Given the description of an element on the screen output the (x, y) to click on. 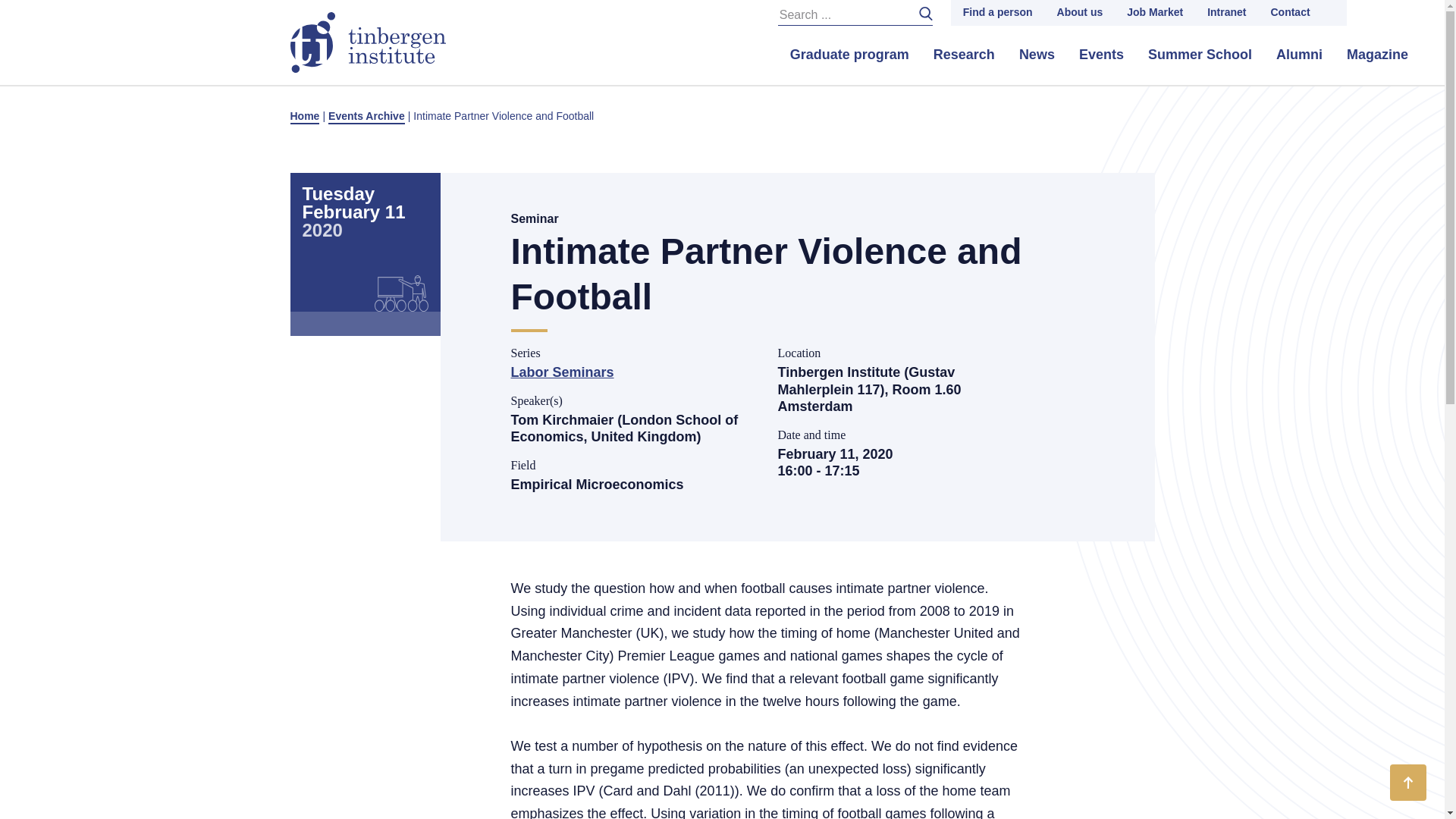
Contact (1289, 12)
Events (1101, 55)
Graduate program (849, 55)
Research (964, 55)
Job Market (1155, 12)
Intranet (1226, 12)
Magazine (1378, 55)
News (1037, 55)
Find a person (997, 12)
Alumni (1299, 55)
